Given the description of an element on the screen output the (x, y) to click on. 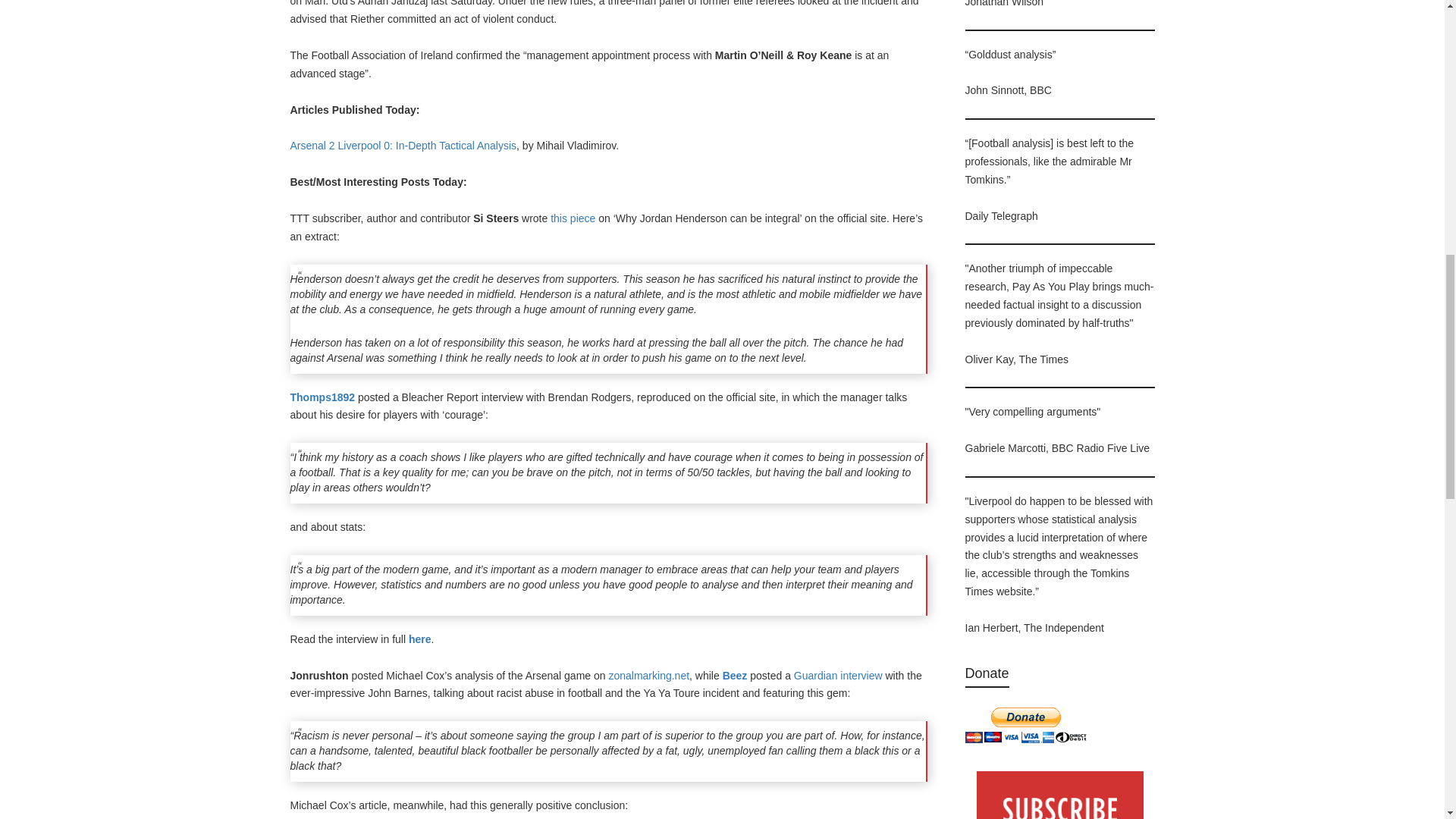
Thomps1892 (322, 397)
Arsenal 2 Liverpool 0: In-Depth Tactical Analysis (402, 145)
Guardian interview (837, 675)
Beez (736, 675)
here (419, 639)
zonalmarking.net (648, 675)
this piece (572, 218)
